Given the description of an element on the screen output the (x, y) to click on. 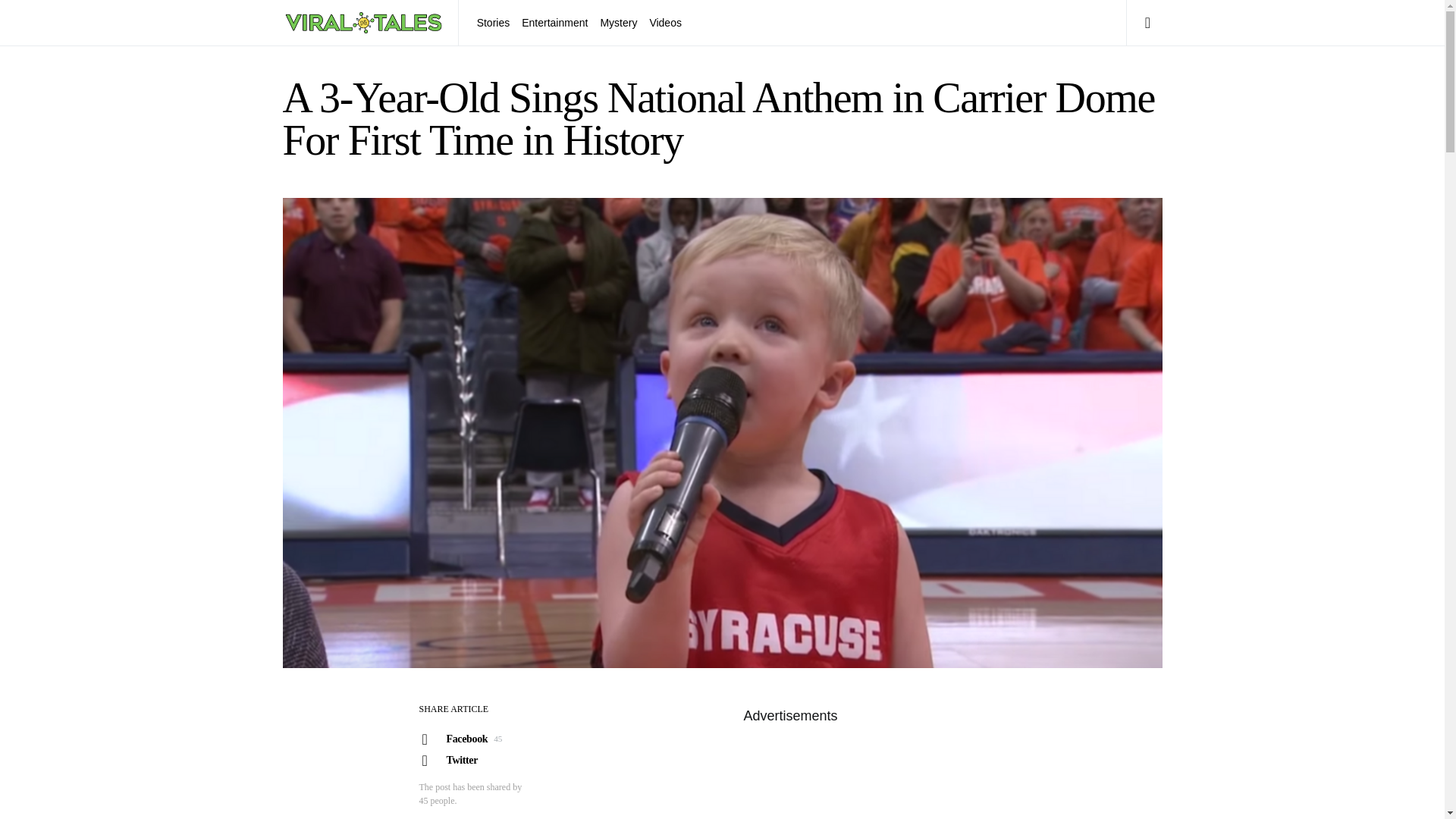
Twitter (470, 760)
Entertainment (554, 22)
Advertisement (789, 773)
Mystery (470, 739)
